Given the description of an element on the screen output the (x, y) to click on. 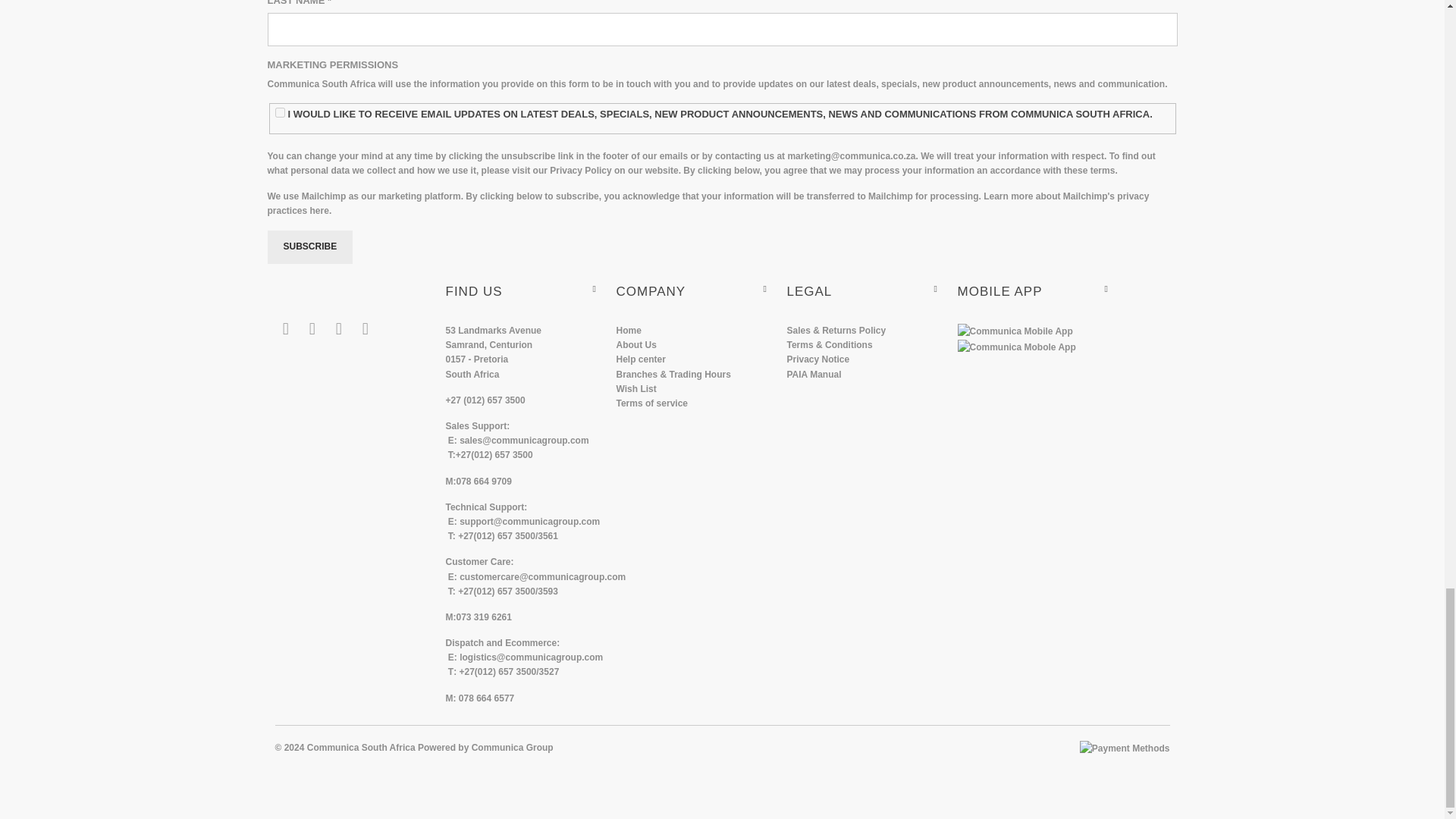
Subscribe (309, 246)
Y (280, 112)
Communica South Africa on Twitter (286, 329)
